Given the description of an element on the screen output the (x, y) to click on. 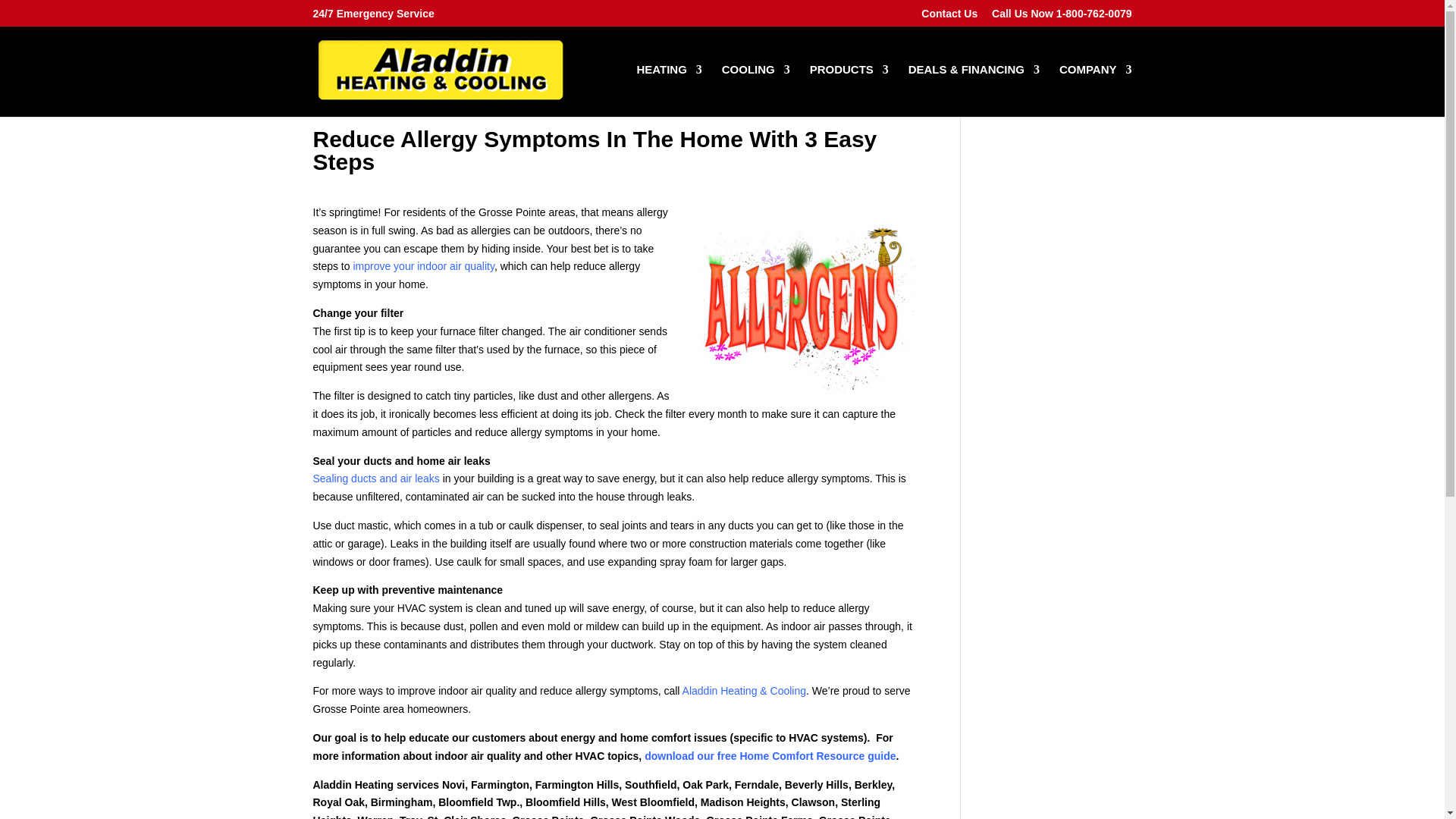
HEATING (668, 90)
Call Us Now 1-800-762-0079 (1061, 16)
COMPANY (1095, 90)
COOLING (756, 90)
Contact Us (948, 16)
PRODUCTS (848, 90)
